Given the description of an element on the screen output the (x, y) to click on. 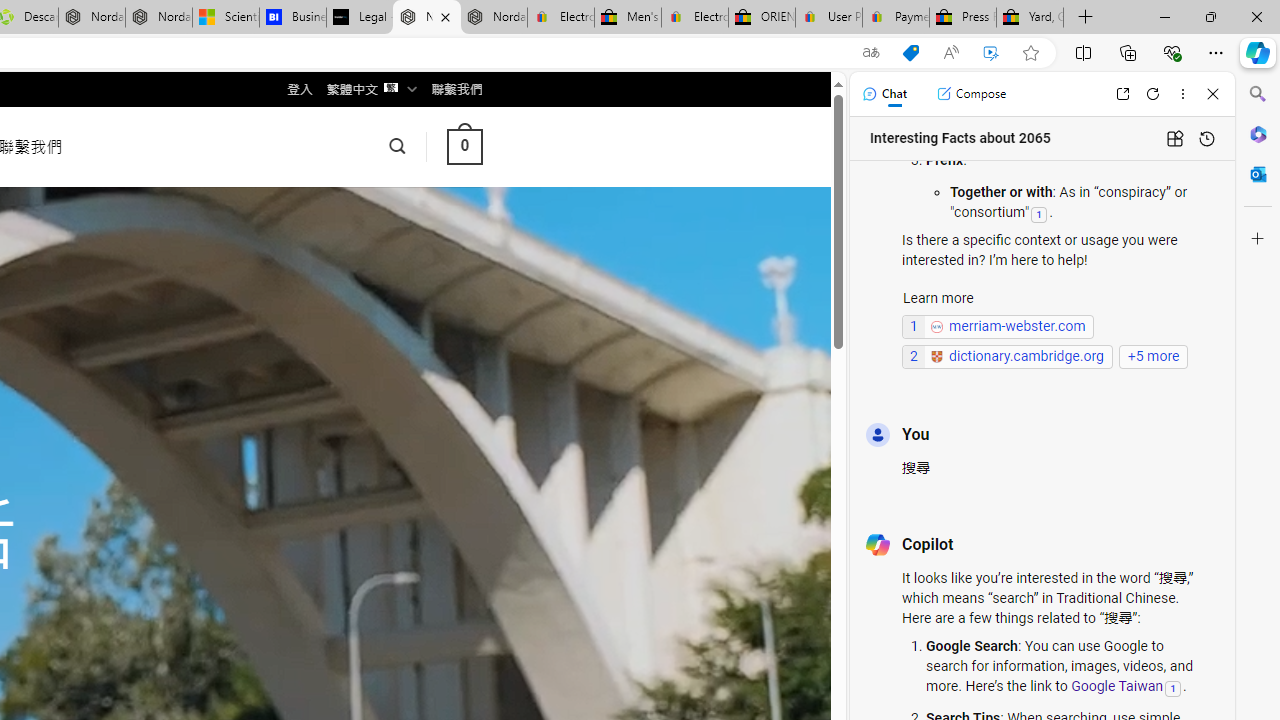
Chat (884, 93)
User Privacy Notice | eBay (828, 17)
